Given the description of an element on the screen output the (x, y) to click on. 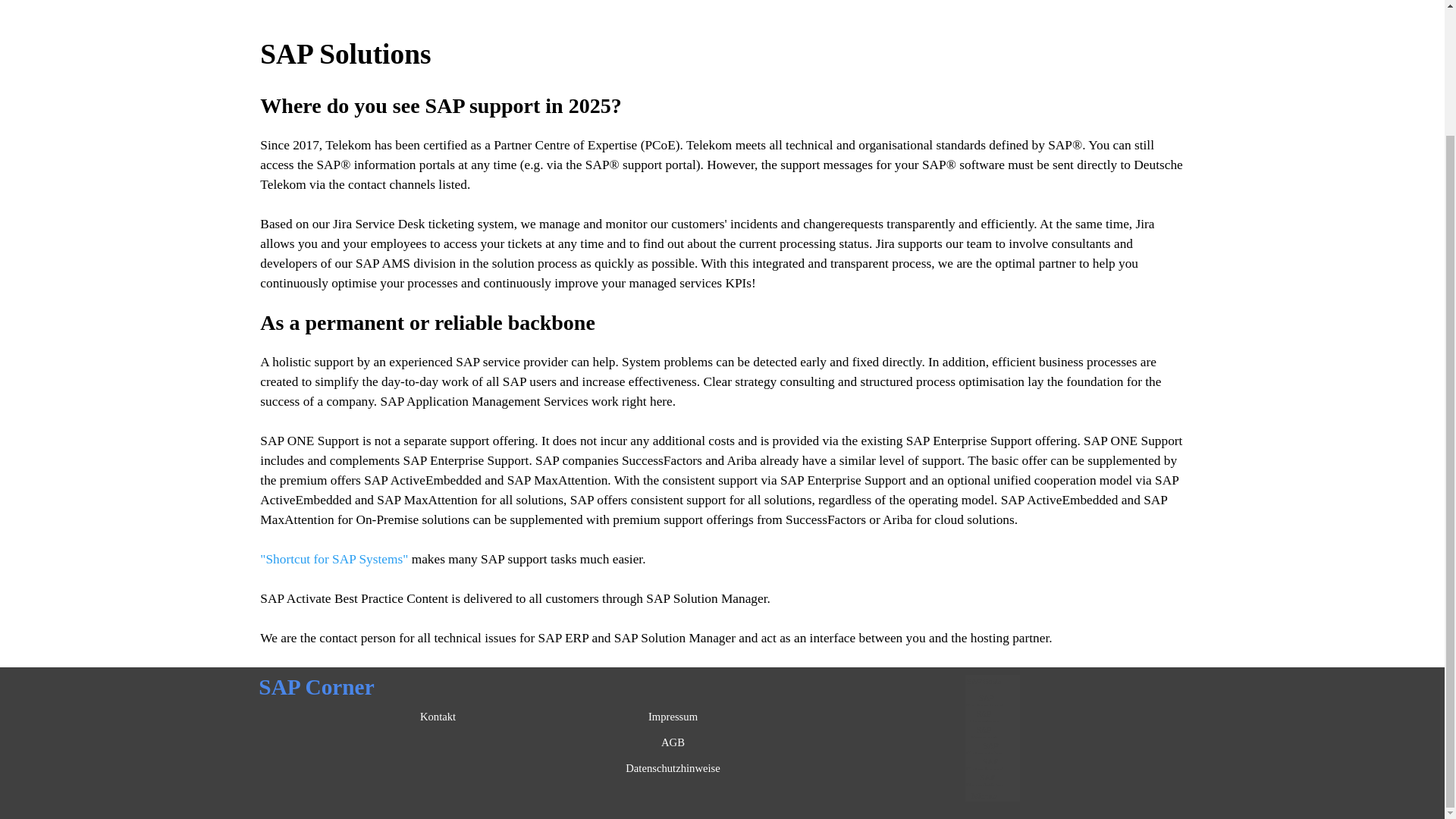
Datenschutzhinweise (672, 767)
"Shortcut for SAP Systems" (333, 559)
AGB (672, 742)
Kontakt (438, 716)
Mirrors (984, 795)
Impressum (672, 716)
